Given the description of an element on the screen output the (x, y) to click on. 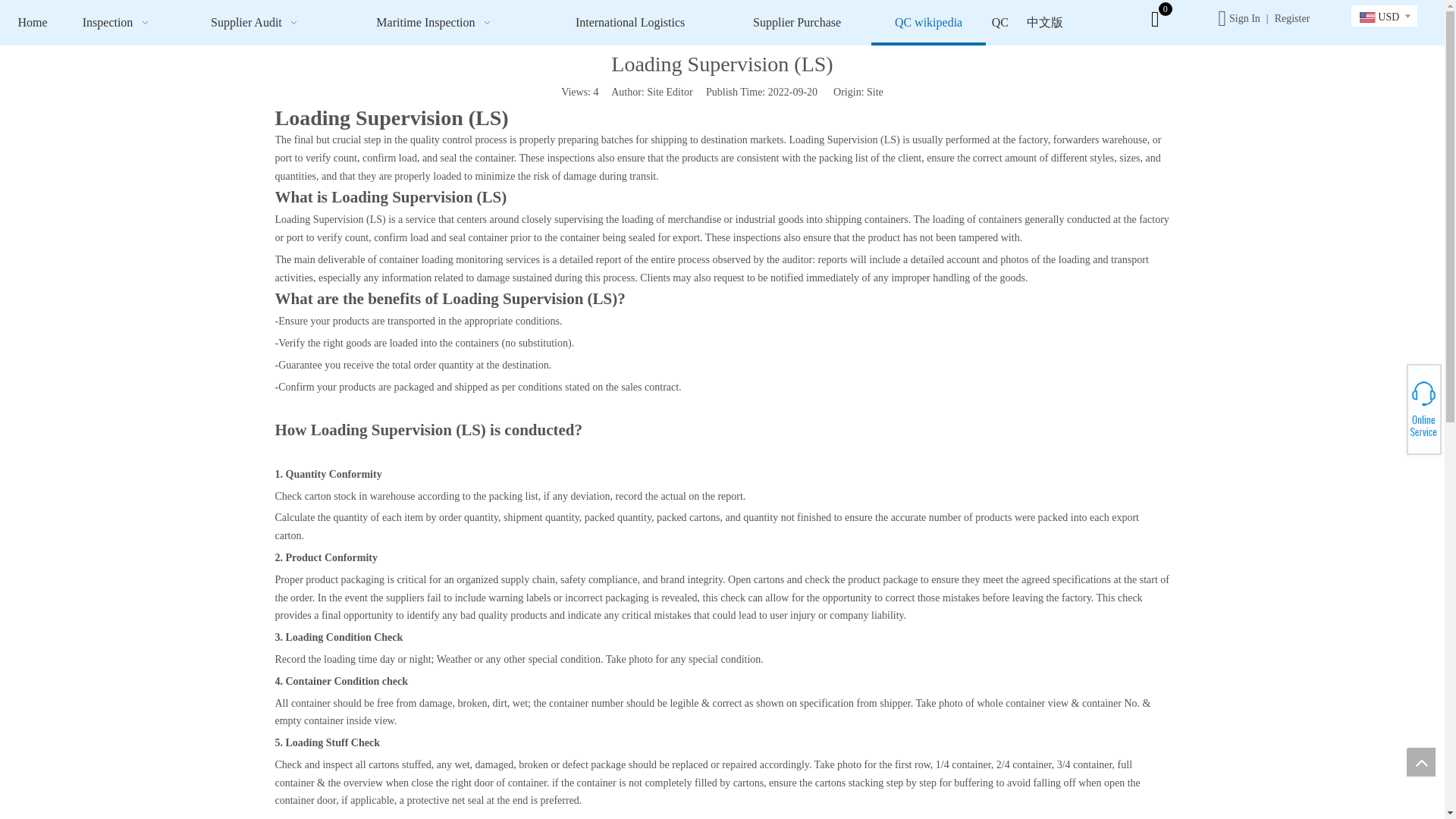
Register (1292, 18)
Supplier Audit   (256, 22)
QC wikipedia (927, 22)
Maritime Inspection   (435, 22)
International Logistics (629, 22)
Inspection   (118, 22)
Sign In (1244, 18)
Supplier Purchase (796, 22)
USD (1379, 16)
Home (32, 22)
